Given the description of an element on the screen output the (x, y) to click on. 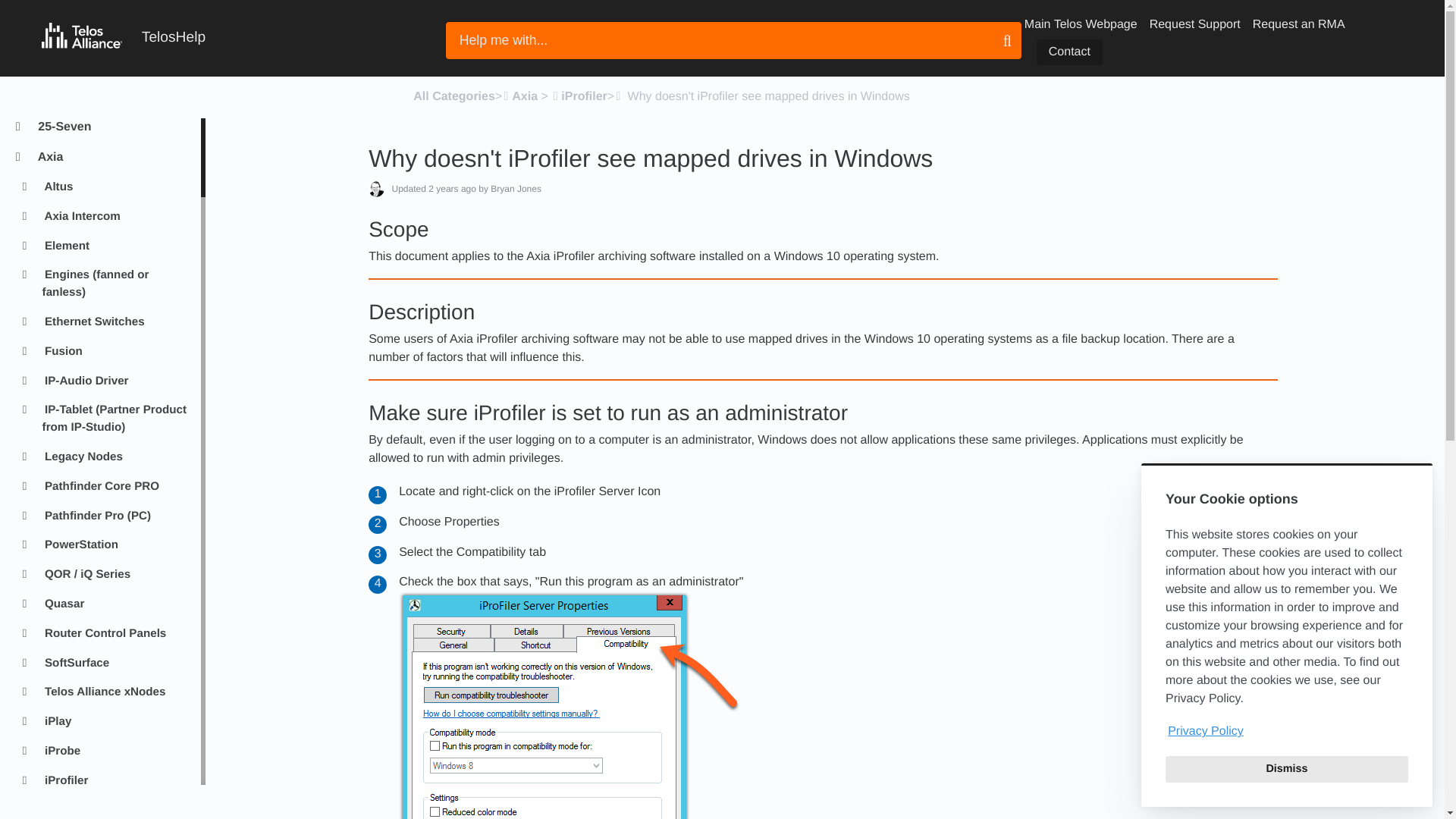
Main Telos Webpage (1081, 24)
Dismiss (1286, 768)
Request Support (1195, 24)
Request an RMA (1298, 24)
TelosHelp (123, 37)
25-Seven (112, 126)
Contact (1069, 52)
Privacy Policy (1286, 731)
